Given the description of an element on the screen output the (x, y) to click on. 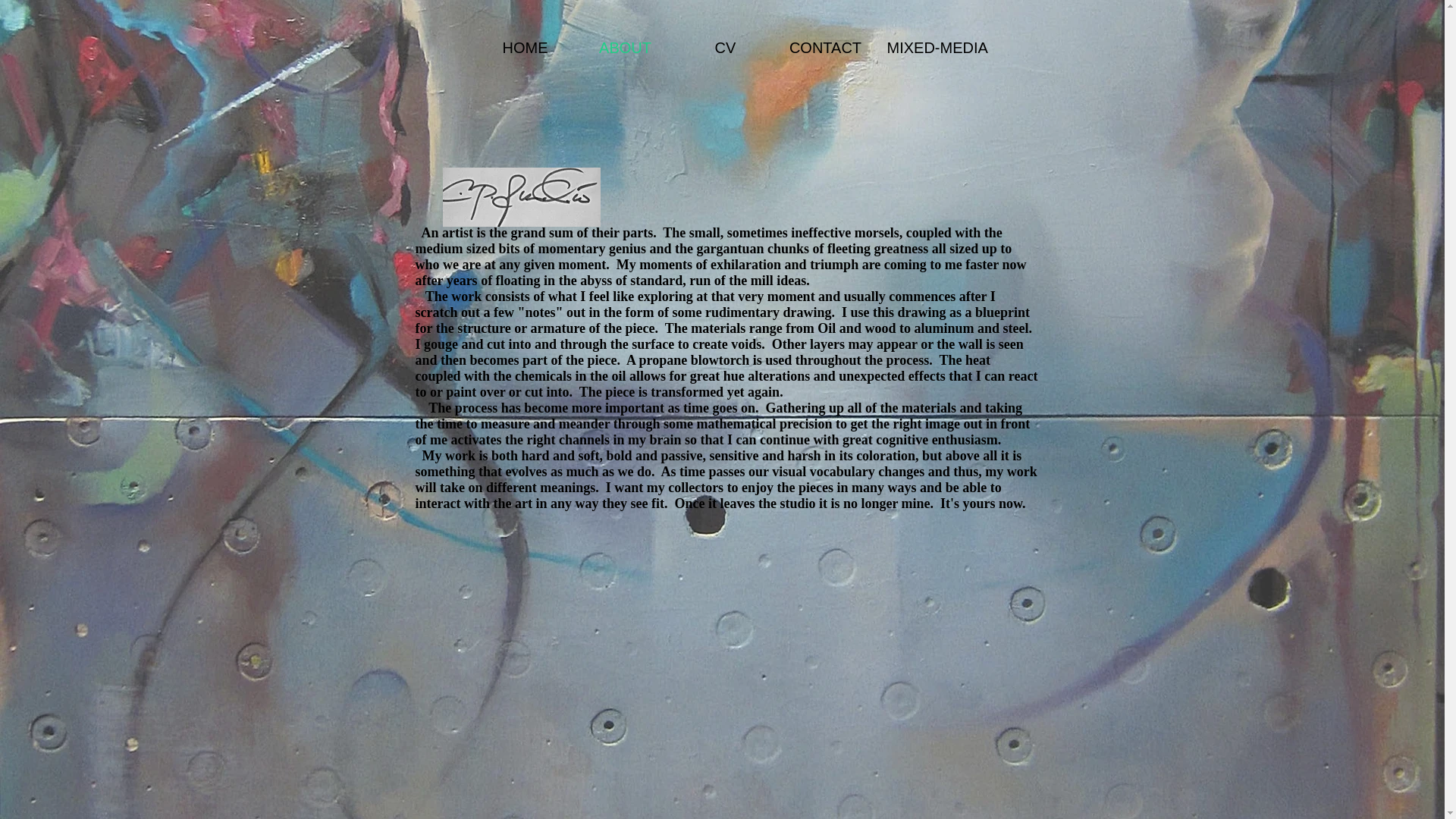
HOME (524, 48)
CV (724, 48)
CONTACT (824, 48)
ABOUT (625, 48)
MIXED-MEDIA (925, 48)
